Given the description of an element on the screen output the (x, y) to click on. 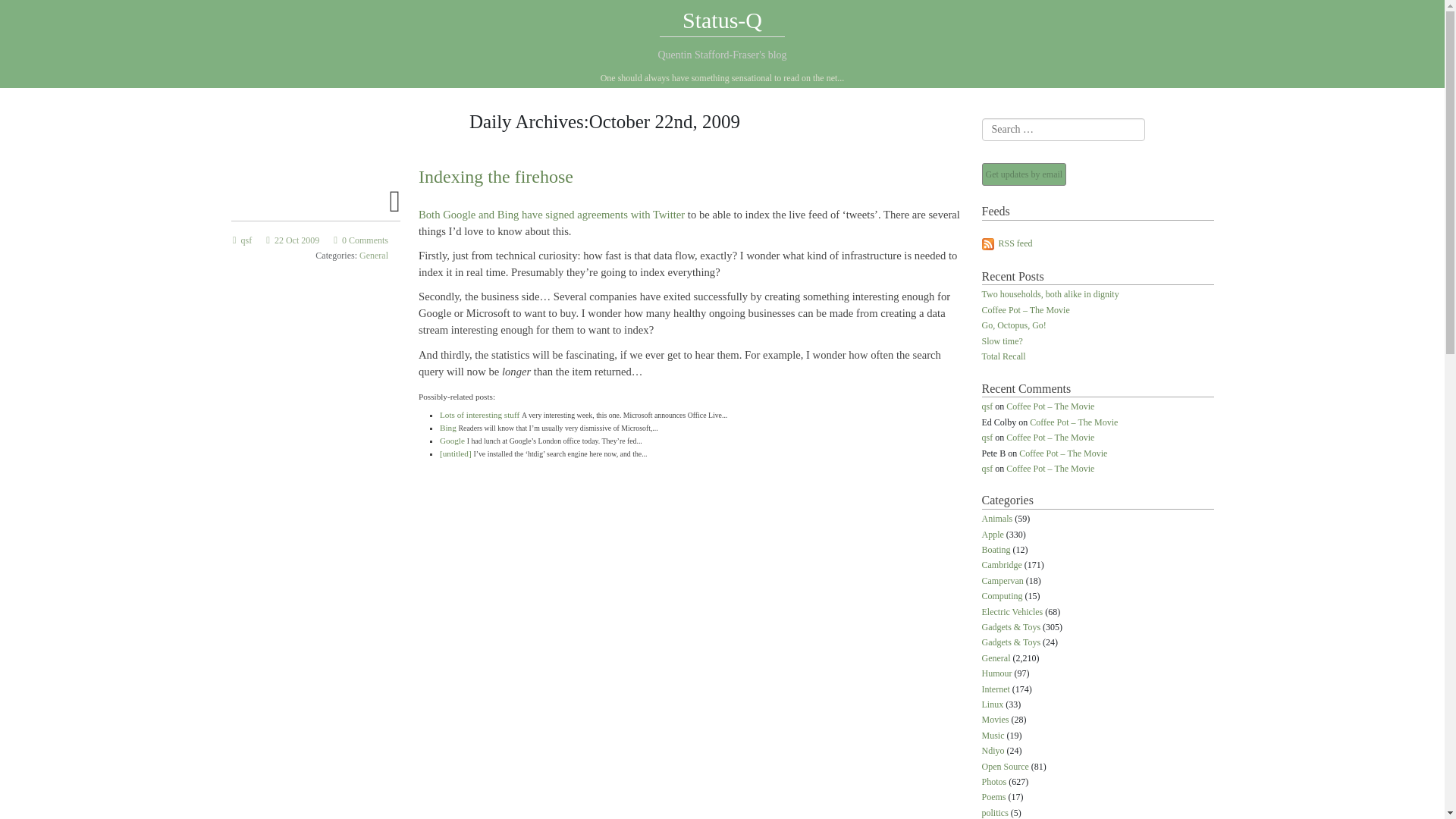
Computing (1001, 596)
Go, Octopus, Go! (1013, 326)
  RSS feed (1006, 243)
Total Recall (1003, 357)
General (373, 255)
Boating (995, 550)
Electric Vehicles (1011, 612)
Both Google and Bing have signed agreements with Twitter (551, 214)
General (995, 658)
Lots of interesting stuff (479, 414)
Permalink to Indexing the firehose (292, 240)
Permalink to Indexing the firehose (394, 208)
Slow time? (1001, 341)
qsf (986, 468)
